Given the description of an element on the screen output the (x, y) to click on. 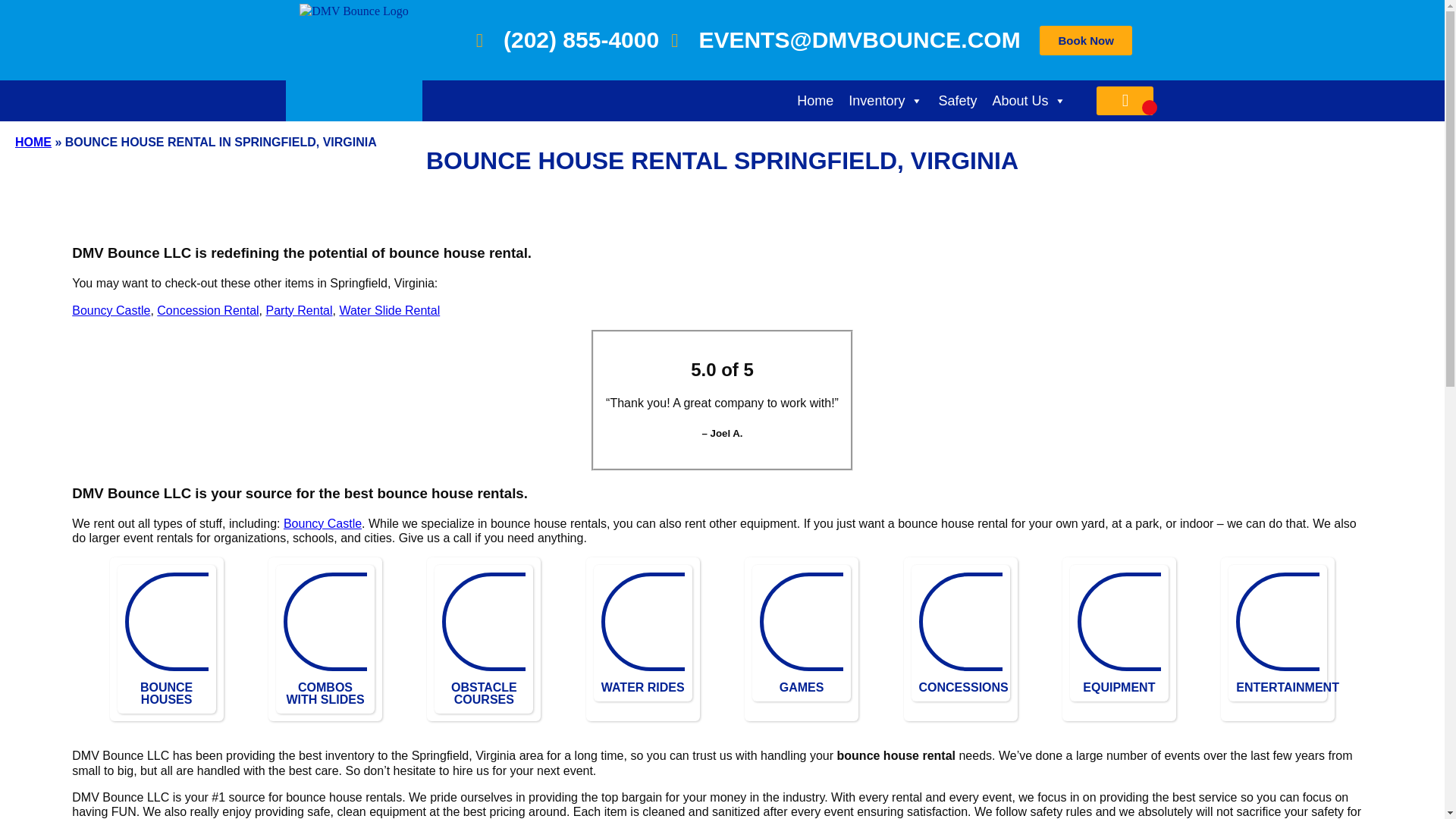
DMV BOUNCE LOGO (354, 60)
Water Rides (711, 621)
Bounce Houses (235, 621)
Inventory (885, 100)
Obstacle Courses (552, 621)
Safety (957, 100)
Games (869, 621)
Combos with Slides (393, 621)
About Us (1029, 100)
Home (815, 100)
